Given the description of an element on the screen output the (x, y) to click on. 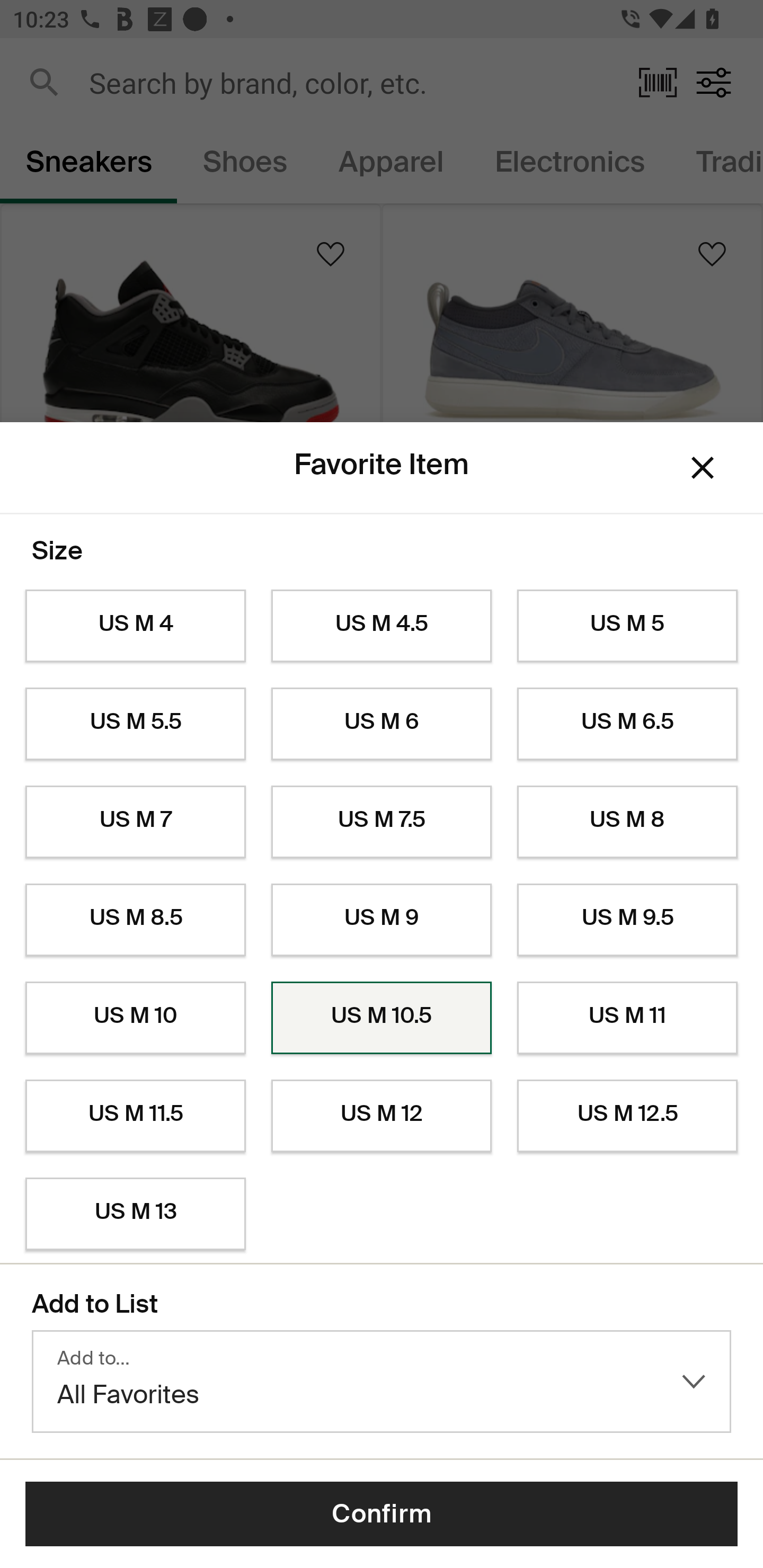
Dismiss (702, 467)
US M 4 (135, 626)
US M 4.5 (381, 626)
US M 5 (627, 626)
US M 5.5 (135, 724)
US M 6 (381, 724)
US M 6.5 (627, 724)
US M 7 (135, 822)
US M 7.5 (381, 822)
US M 8 (627, 822)
US M 8.5 (135, 919)
US M 9 (381, 919)
US M 9.5 (627, 919)
US M 10 (135, 1018)
US M 10.5 (381, 1018)
US M 11 (627, 1018)
US M 11.5 (135, 1116)
US M 12 (381, 1116)
US M 12.5 (627, 1116)
US M 13 (135, 1214)
Add to… All Favorites (381, 1381)
Confirm (381, 1513)
